Given the description of an element on the screen output the (x, y) to click on. 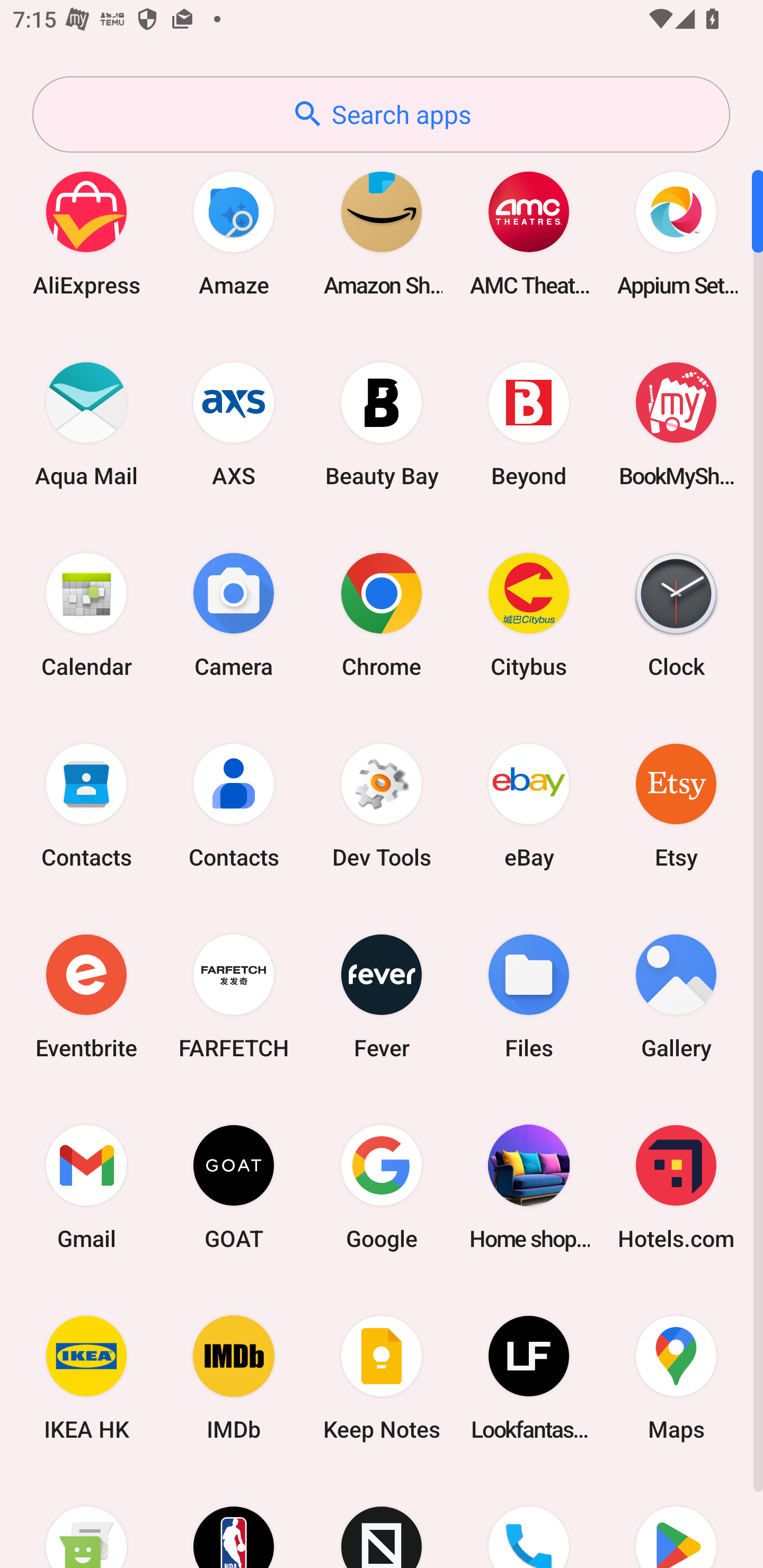
  Search apps (381, 114)
AliExpress (86, 233)
Amaze (233, 233)
Amazon Shopping (381, 233)
AMC Theatres (528, 233)
Appium Settings (676, 233)
Aqua Mail (86, 424)
AXS (233, 424)
Beauty Bay (381, 424)
Beyond (528, 424)
BookMyShow (676, 424)
Calendar (86, 614)
Camera (233, 614)
Chrome (381, 614)
Citybus (528, 614)
Clock (676, 614)
Contacts (86, 805)
Contacts (233, 805)
Dev Tools (381, 805)
eBay (528, 805)
Etsy (676, 805)
Eventbrite (86, 996)
FARFETCH (233, 996)
Fever (381, 996)
Files (528, 996)
Gallery (676, 996)
Gmail (86, 1186)
GOAT (233, 1186)
Google (381, 1186)
Home shopping (528, 1186)
Hotels.com (676, 1186)
IKEA HK (86, 1377)
IMDb (233, 1377)
Keep Notes (381, 1377)
Lookfantastic (528, 1377)
Maps (676, 1377)
Messaging (86, 1520)
NBA (233, 1520)
Novelship (381, 1520)
Phone (528, 1520)
Play Store (676, 1520)
